Given the description of an element on the screen output the (x, y) to click on. 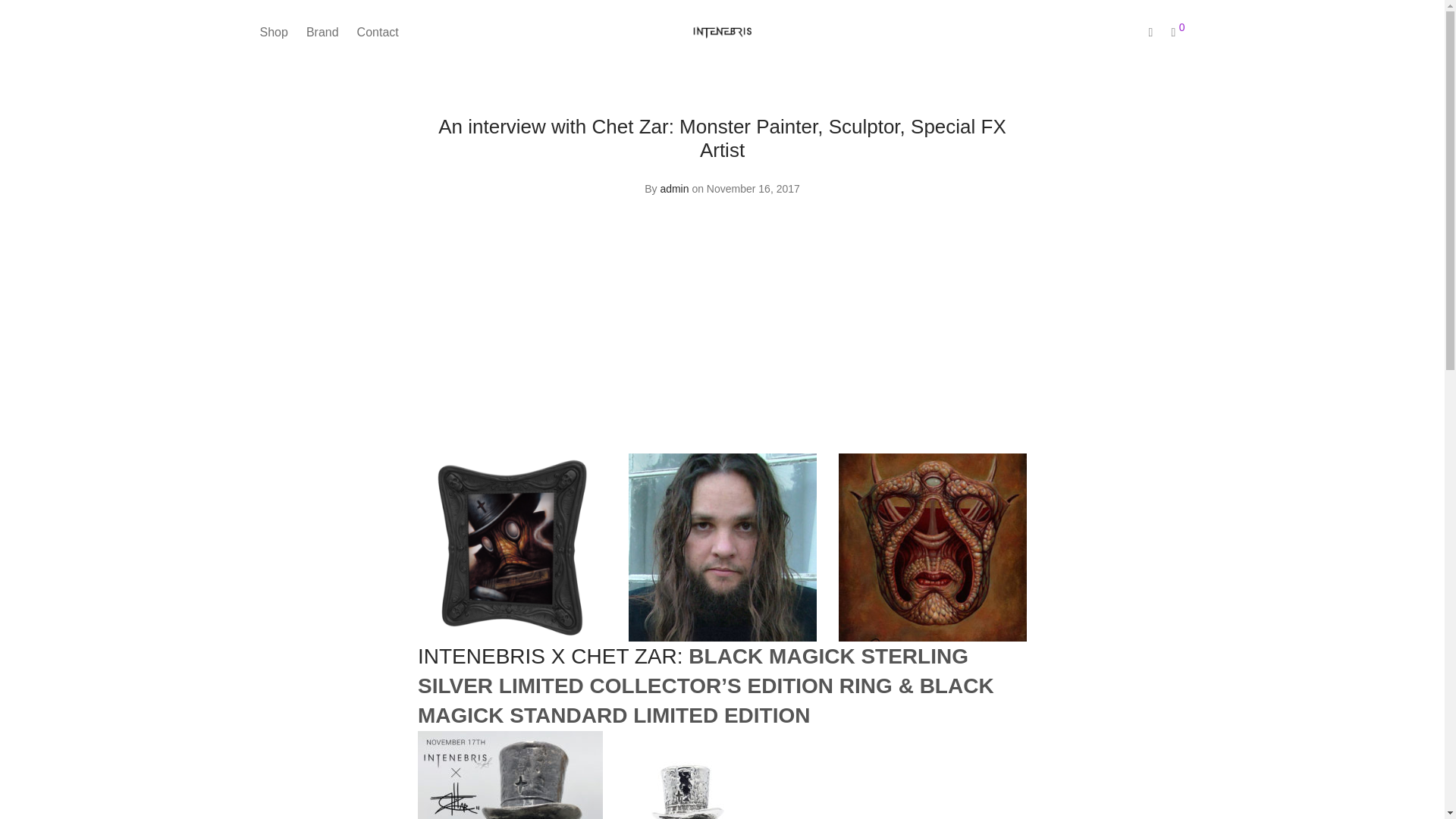
Brand (322, 32)
frame render.2955 (511, 547)
admin (673, 188)
Shop (273, 32)
ChetZarHeadshot (722, 547)
Posts by admin (673, 188)
Contact (377, 32)
